Given the description of an element on the screen output the (x, y) to click on. 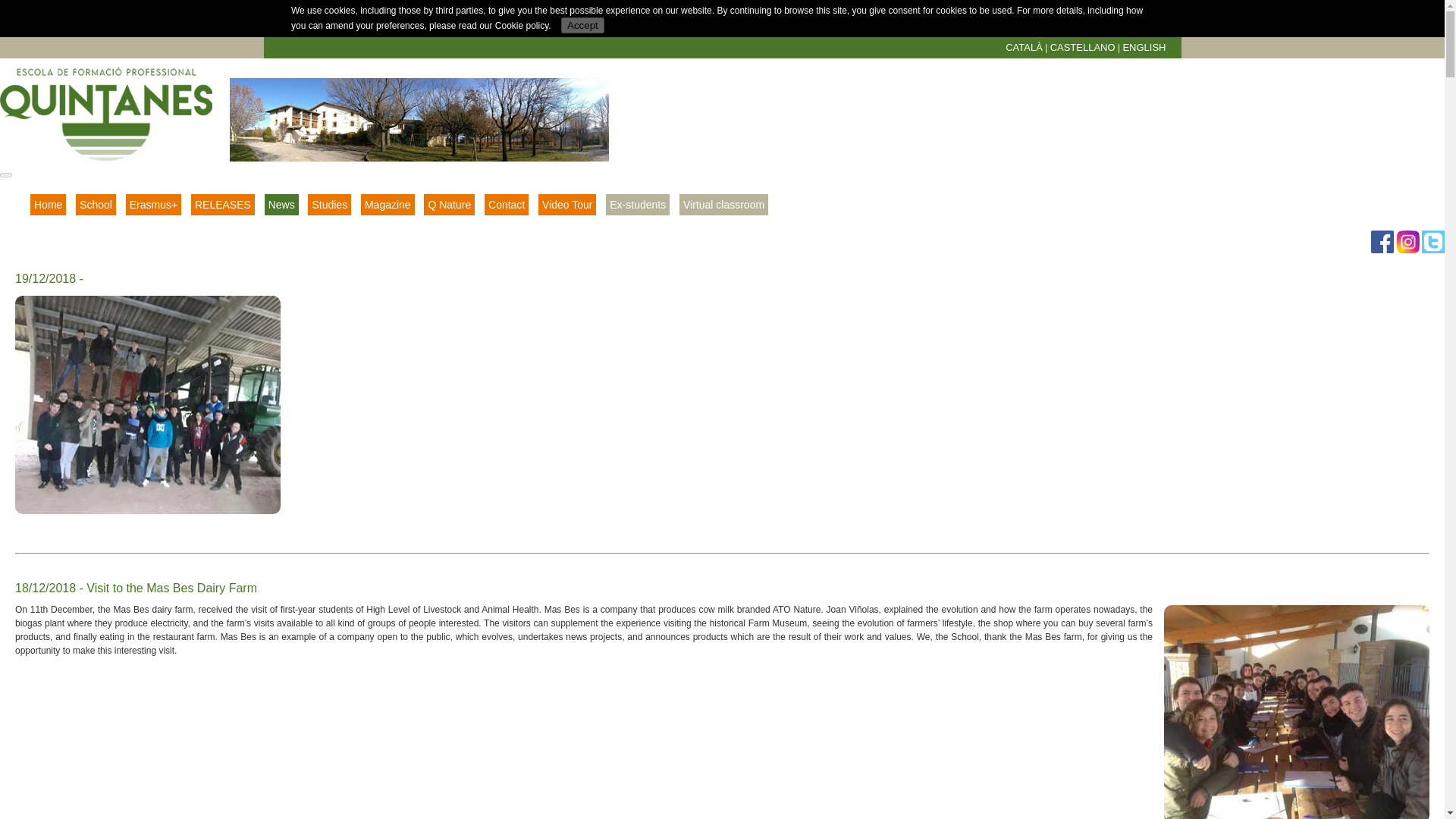
Accept (582, 25)
Ex-students (637, 204)
News (281, 204)
Toggle navigation (5, 174)
RELEASES (222, 204)
Home (47, 204)
Q Nature (448, 204)
Studies (328, 204)
School (95, 204)
Virtual classroom (723, 204)
Magazine (387, 204)
Contact (506, 204)
CASTELLANO (1082, 47)
ENGLISH (1144, 47)
Visit to the Mas Bes Dairy Farm  (1296, 712)
